Given the description of an element on the screen output the (x, y) to click on. 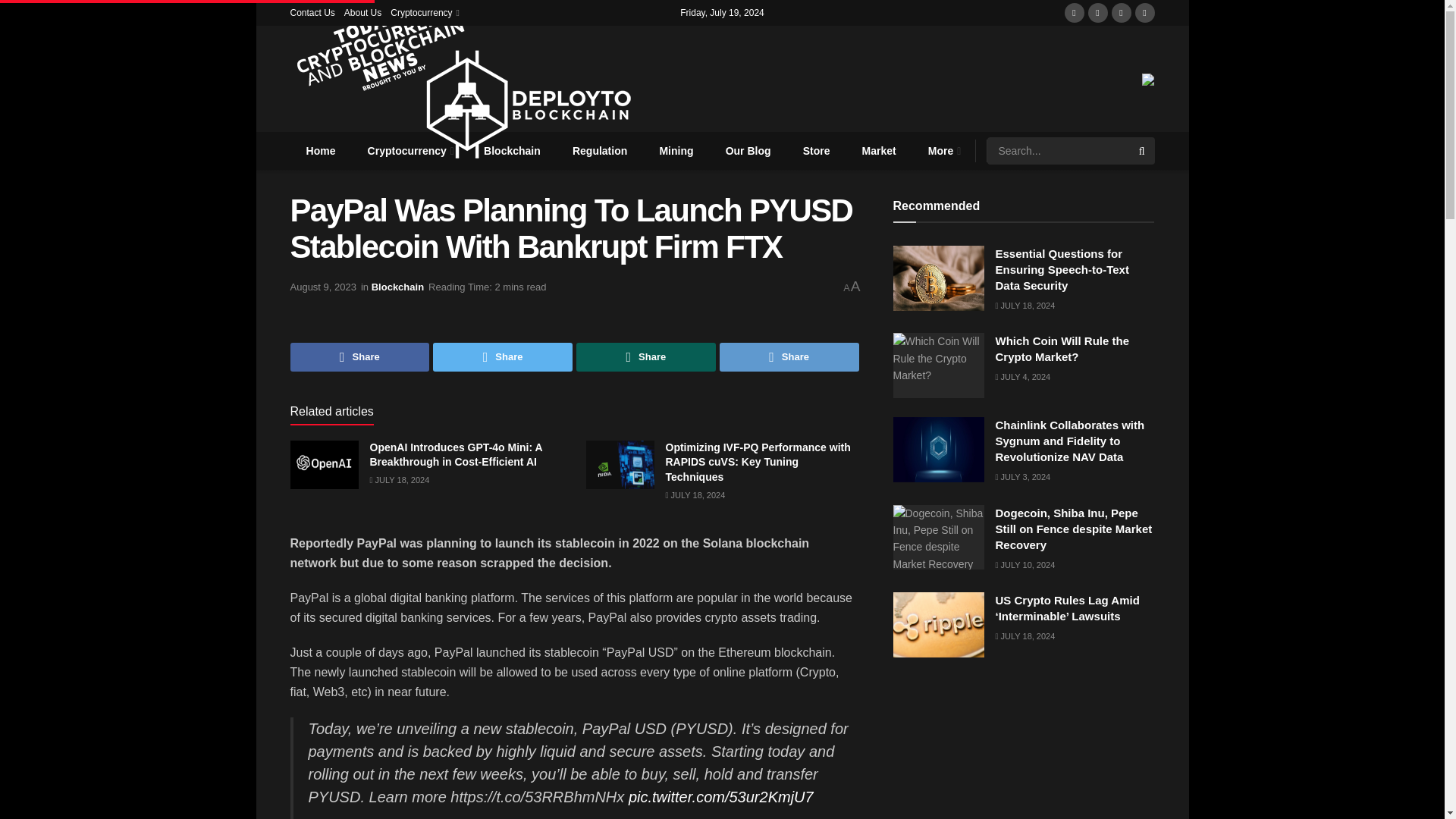
Cryptocurrency (423, 12)
Home (319, 150)
Cryptocurrency (410, 150)
Contact Us (311, 12)
About Us (362, 12)
